Given the description of an element on the screen output the (x, y) to click on. 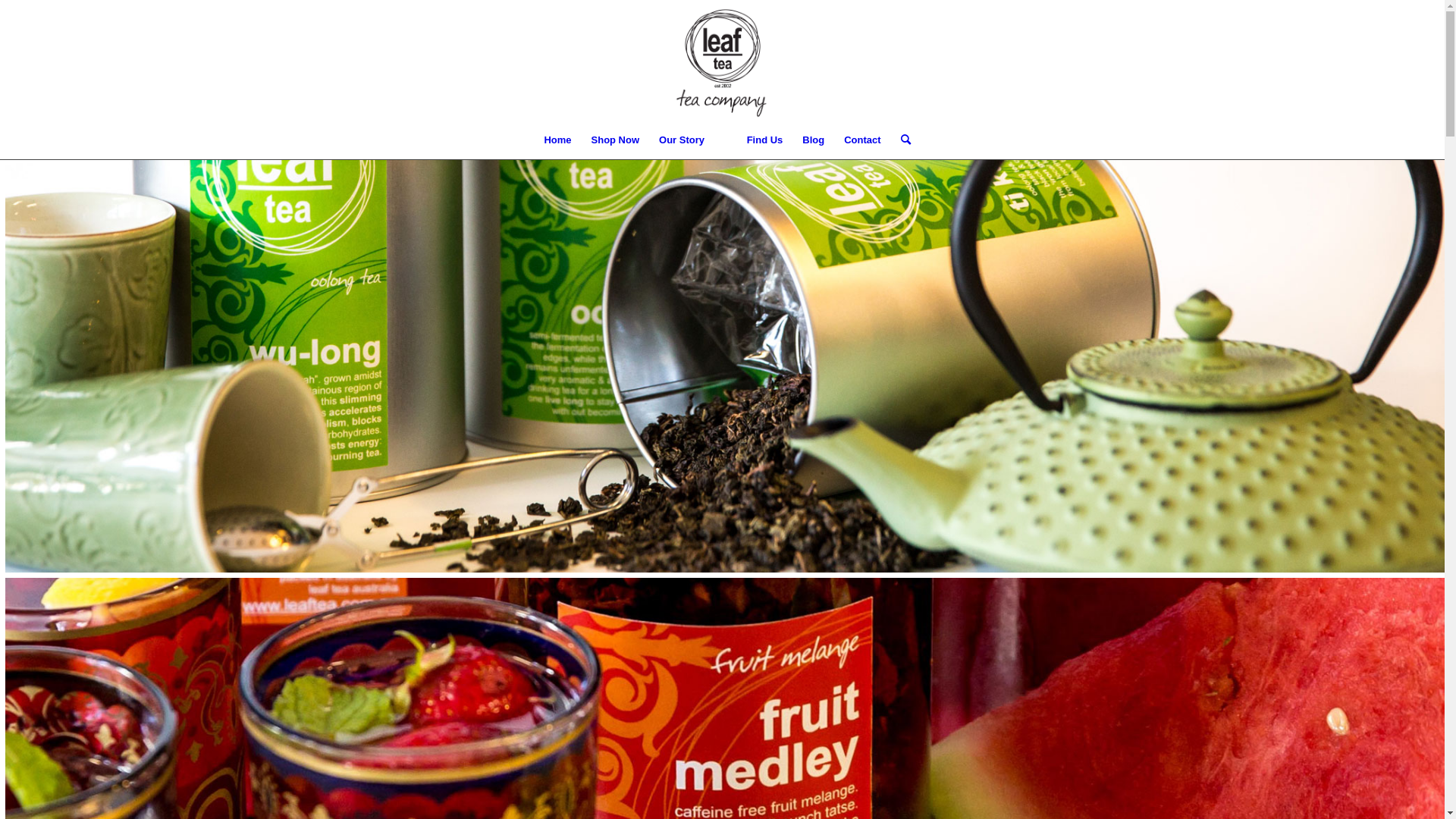
Shop Now Element type: text (615, 140)
Blog Element type: text (813, 140)
Our Story Element type: text (681, 140)
logo-new Element type: hover (722, 60)
Contact Element type: text (862, 140)
Find Us Element type: text (765, 140)
  Element type: text (725, 140)
Home Element type: text (556, 140)
